Given the description of an element on the screen output the (x, y) to click on. 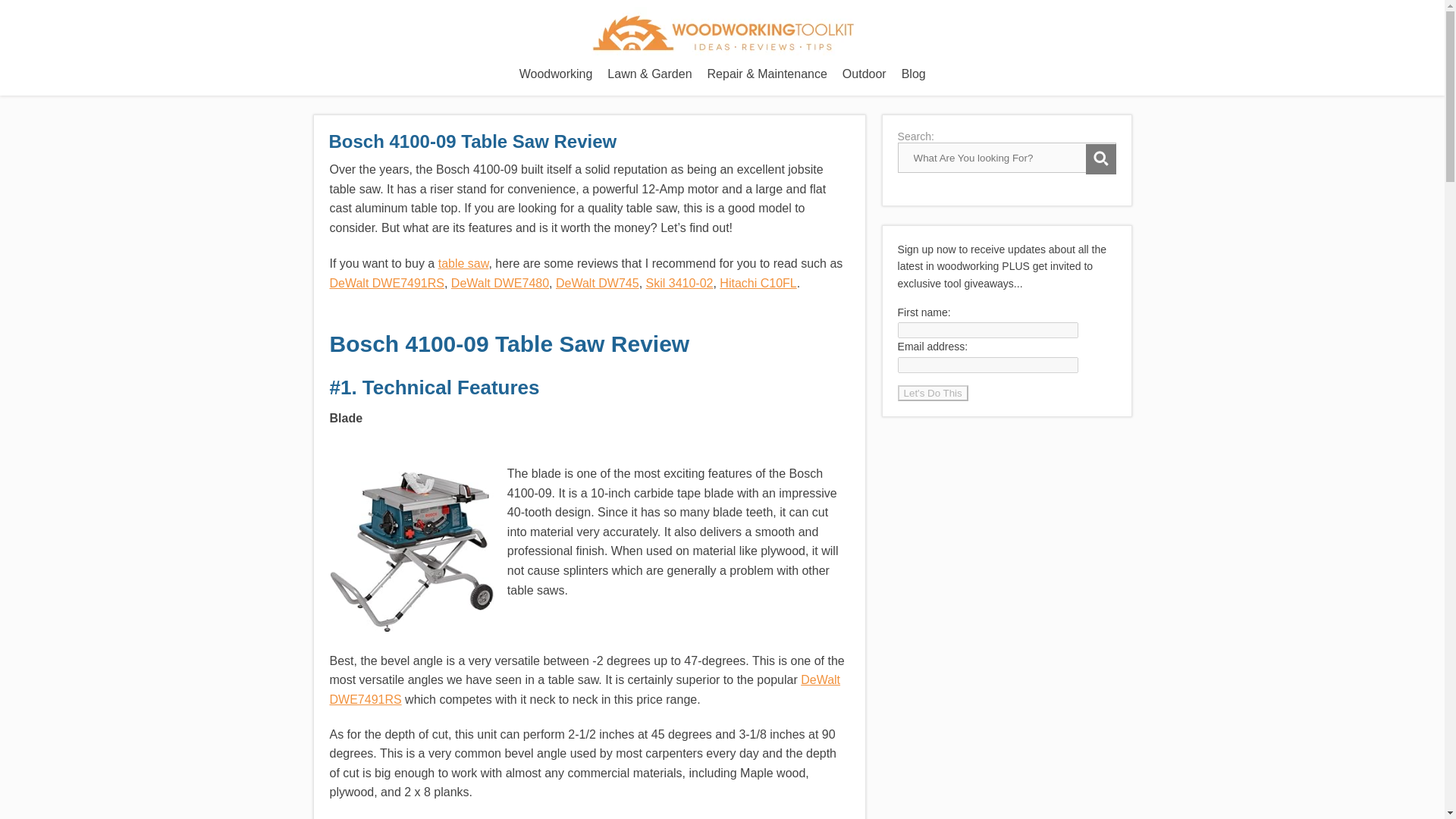
DeWalt DWE7491RS (584, 689)
DeWalt DWE7480 (499, 282)
Skil 3410-02 (679, 282)
Hitachi C10FL (757, 282)
Outdoor (863, 73)
Woodworking (555, 73)
Let's Do This (933, 392)
Blog (913, 73)
DeWalt DWE7491RS (386, 282)
table saw (463, 263)
DeWalt DW745 (597, 282)
